Given the description of an element on the screen output the (x, y) to click on. 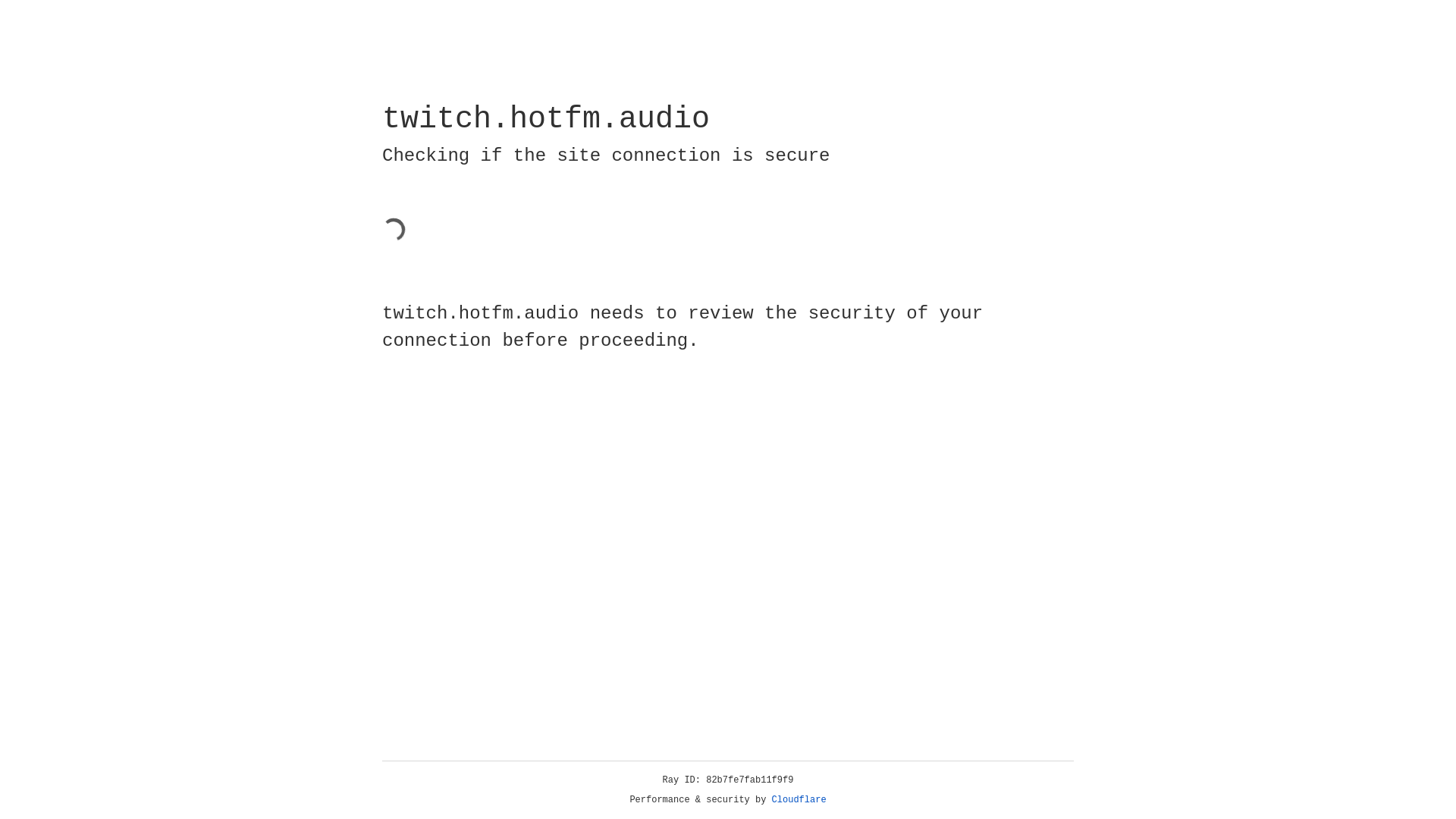
Cloudflare Element type: text (798, 799)
